Given the description of an element on the screen output the (x, y) to click on. 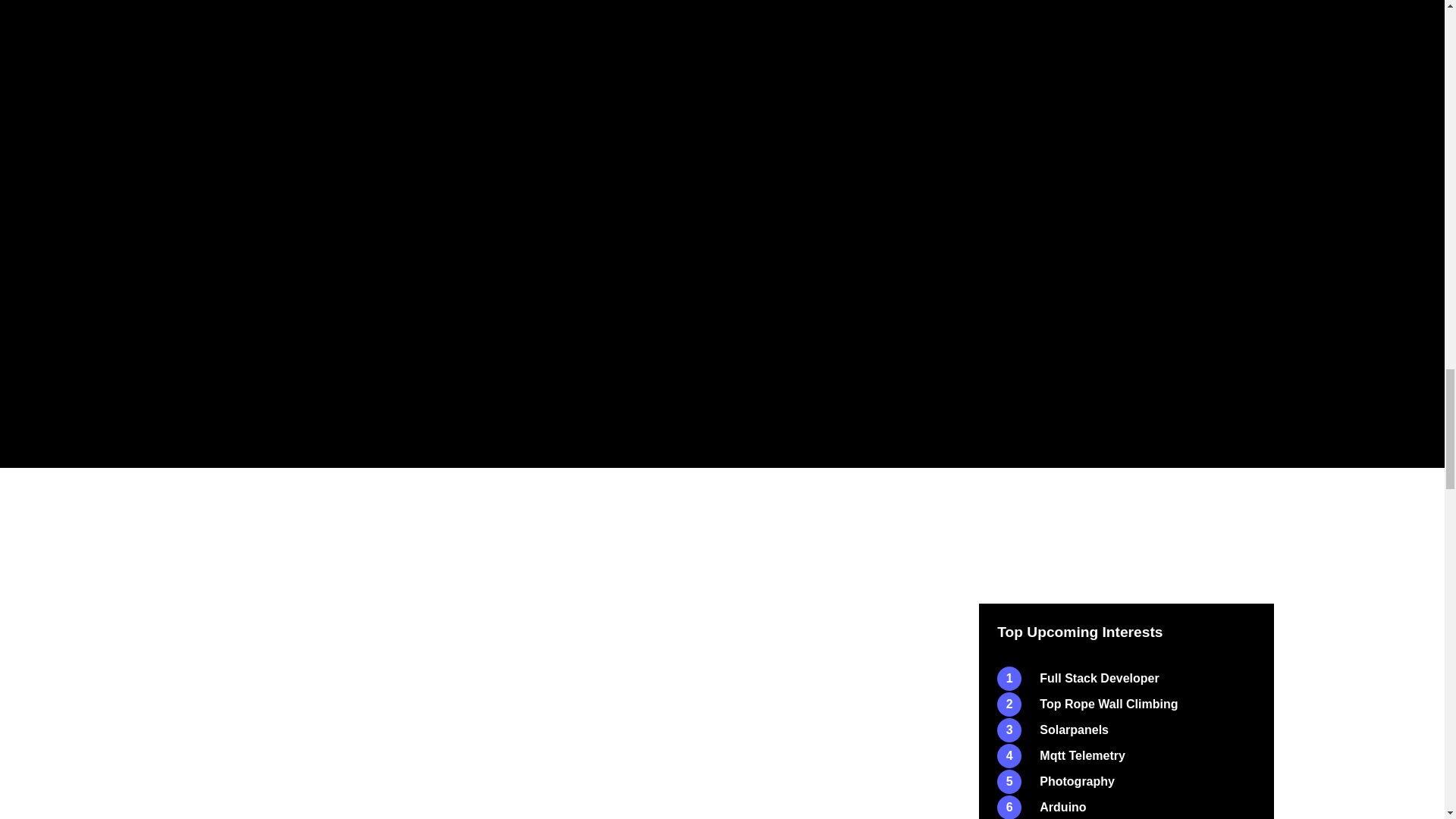
Solarpanels (1126, 730)
Solarpanels (1126, 730)
Mqtt Telemetry (1126, 755)
Photography (1126, 782)
Full Stack Developer (1126, 678)
Top Rope Wall Climbing (1126, 704)
Mqtt Telemetry (1126, 755)
Full Stack Developer (1126, 678)
Arduino (1126, 807)
Top Rope Wall Climbing (1126, 704)
